Given the description of an element on the screen output the (x, y) to click on. 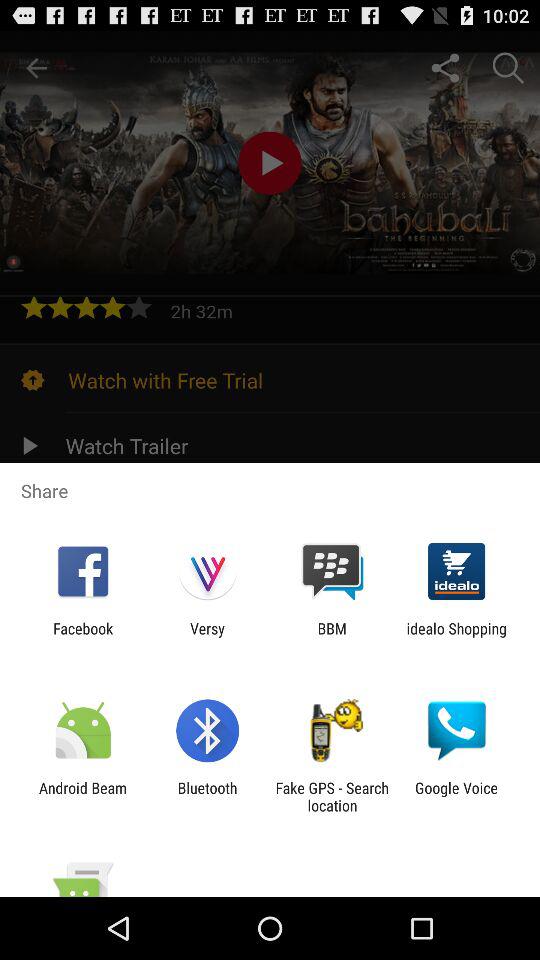
swipe to fake gps search item (332, 796)
